Given the description of an element on the screen output the (x, y) to click on. 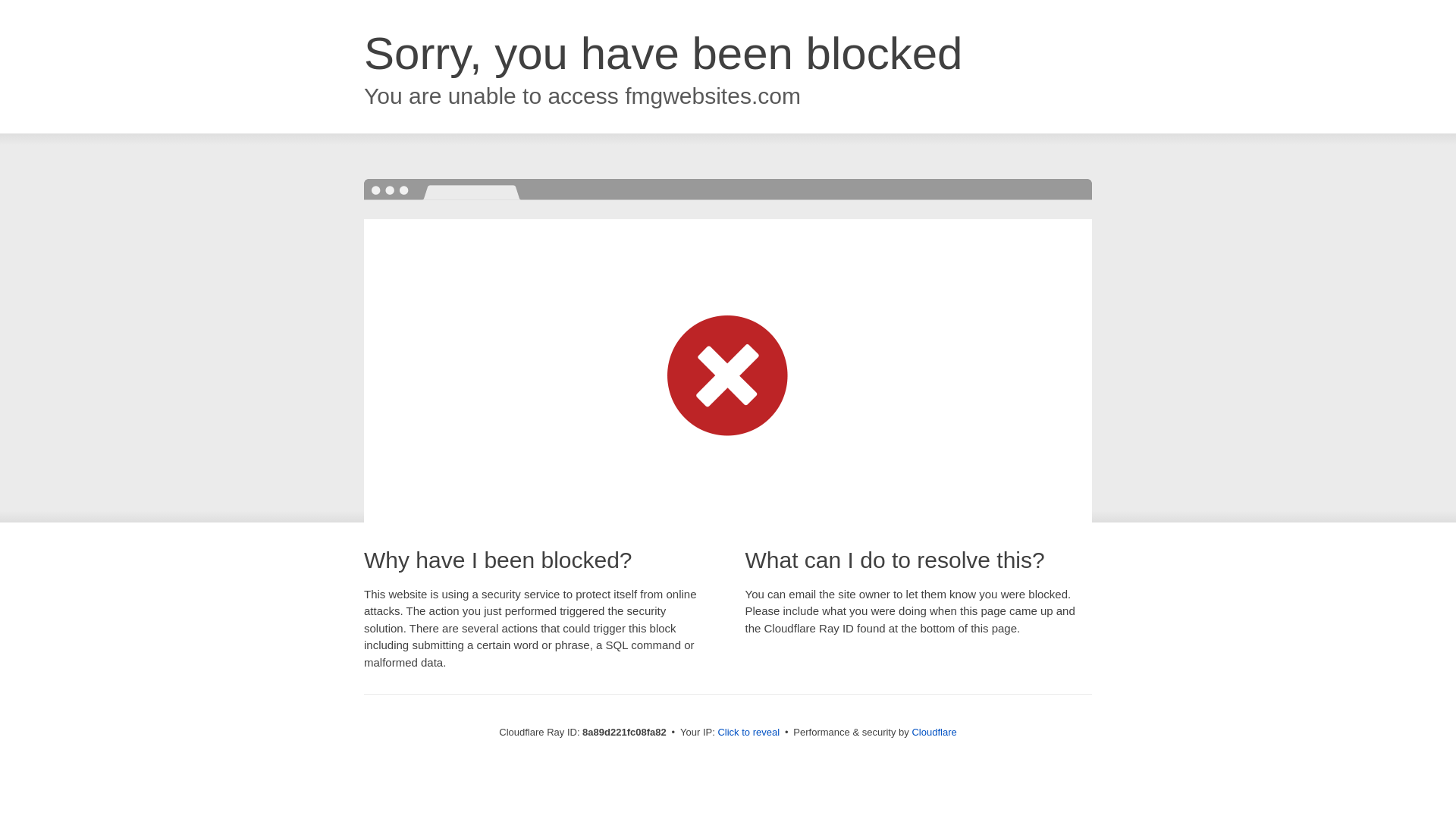
Cloudflare (933, 731)
Click to reveal (747, 732)
